Given the description of an element on the screen output the (x, y) to click on. 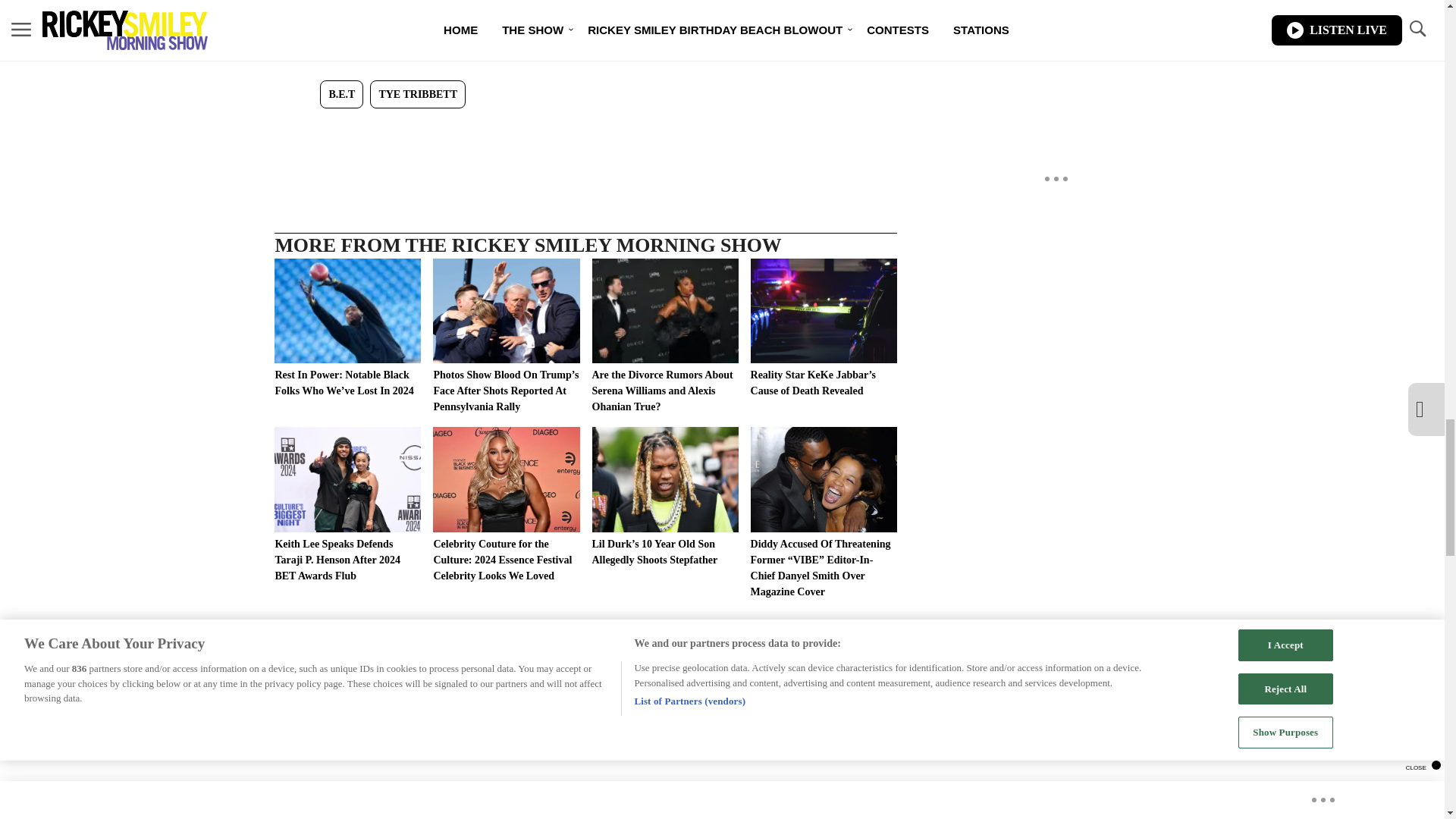
B.E.T (341, 94)
TYE TRIBBETT (417, 94)
Vuukle Sharebar Widget (585, 132)
stuffflypeoplelike.com (826, 17)
